Given the description of an element on the screen output the (x, y) to click on. 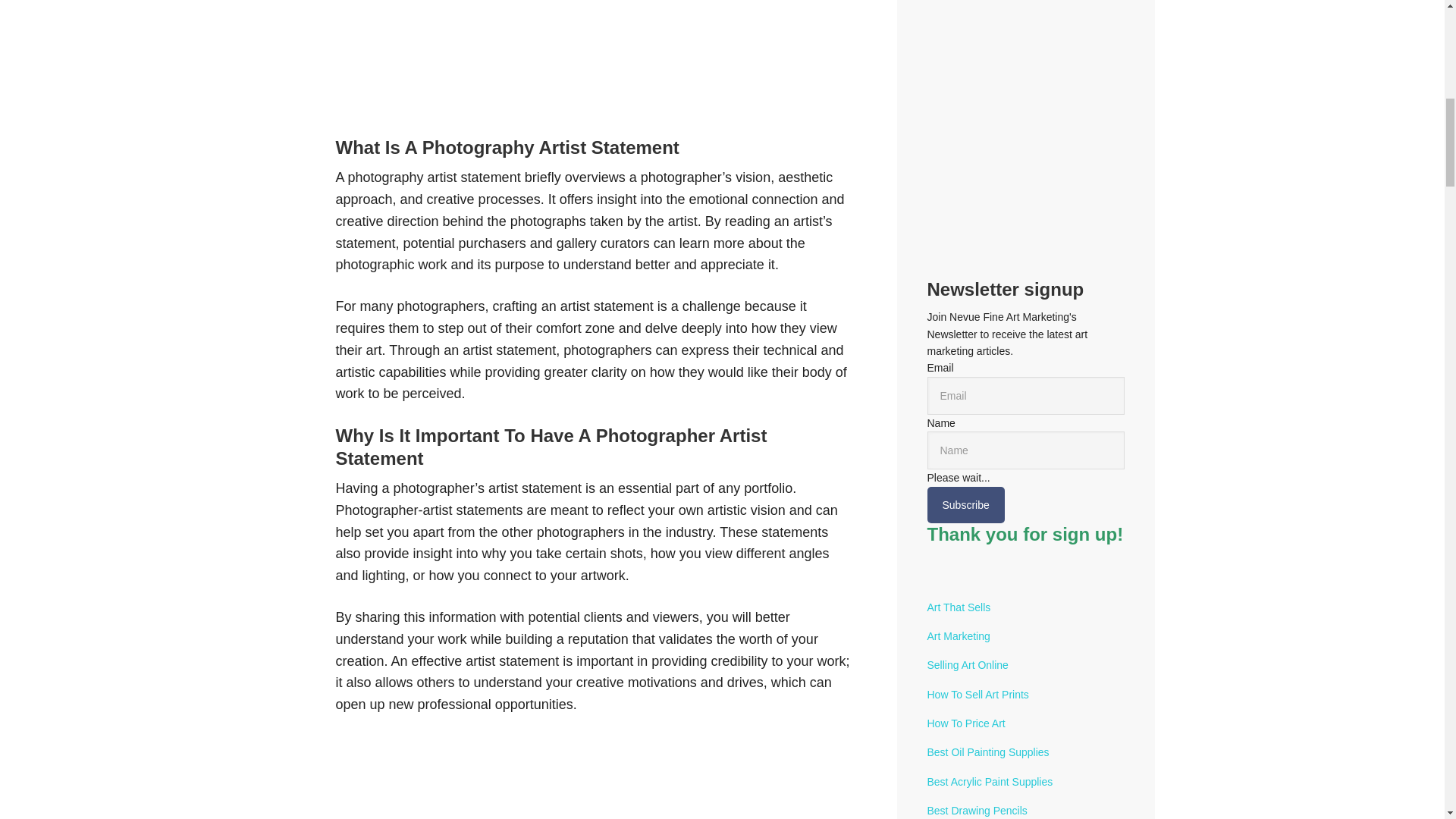
How To Price Art (965, 723)
Art Marketing (958, 635)
Art That Sells (958, 607)
Best Acrylic Paint Supplies (989, 781)
How To Sell Art Prints (976, 694)
Selling Art Online (966, 664)
Best Oil Painting Supplies (987, 752)
Subscribe (965, 504)
